Given the description of an element on the screen output the (x, y) to click on. 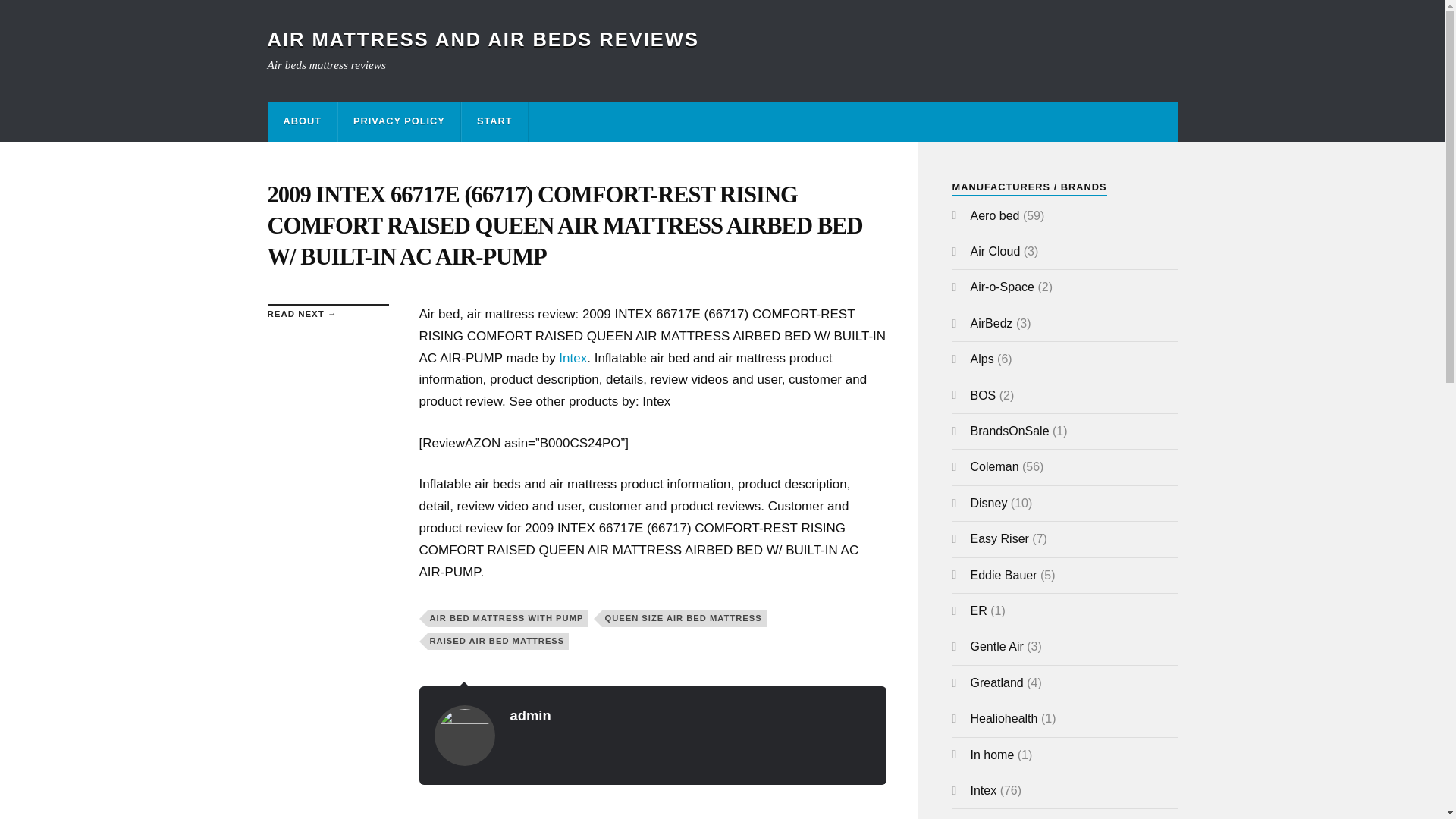
BOS (983, 395)
Air-o-Space (1002, 286)
PRIVACY POLICY (398, 121)
In home (992, 754)
QUEEN SIZE AIR BED MATTRESS (683, 618)
Eddie Bauer (1003, 574)
Easy Riser (1000, 538)
Coleman (995, 466)
Air Cloud (995, 250)
Alps (982, 358)
AirBedz (992, 323)
ABOUT (302, 121)
AIR MATTRESS AND AIR BEDS REVIEWS (482, 38)
START (494, 121)
Gentle Air (997, 645)
